Given the description of an element on the screen output the (x, y) to click on. 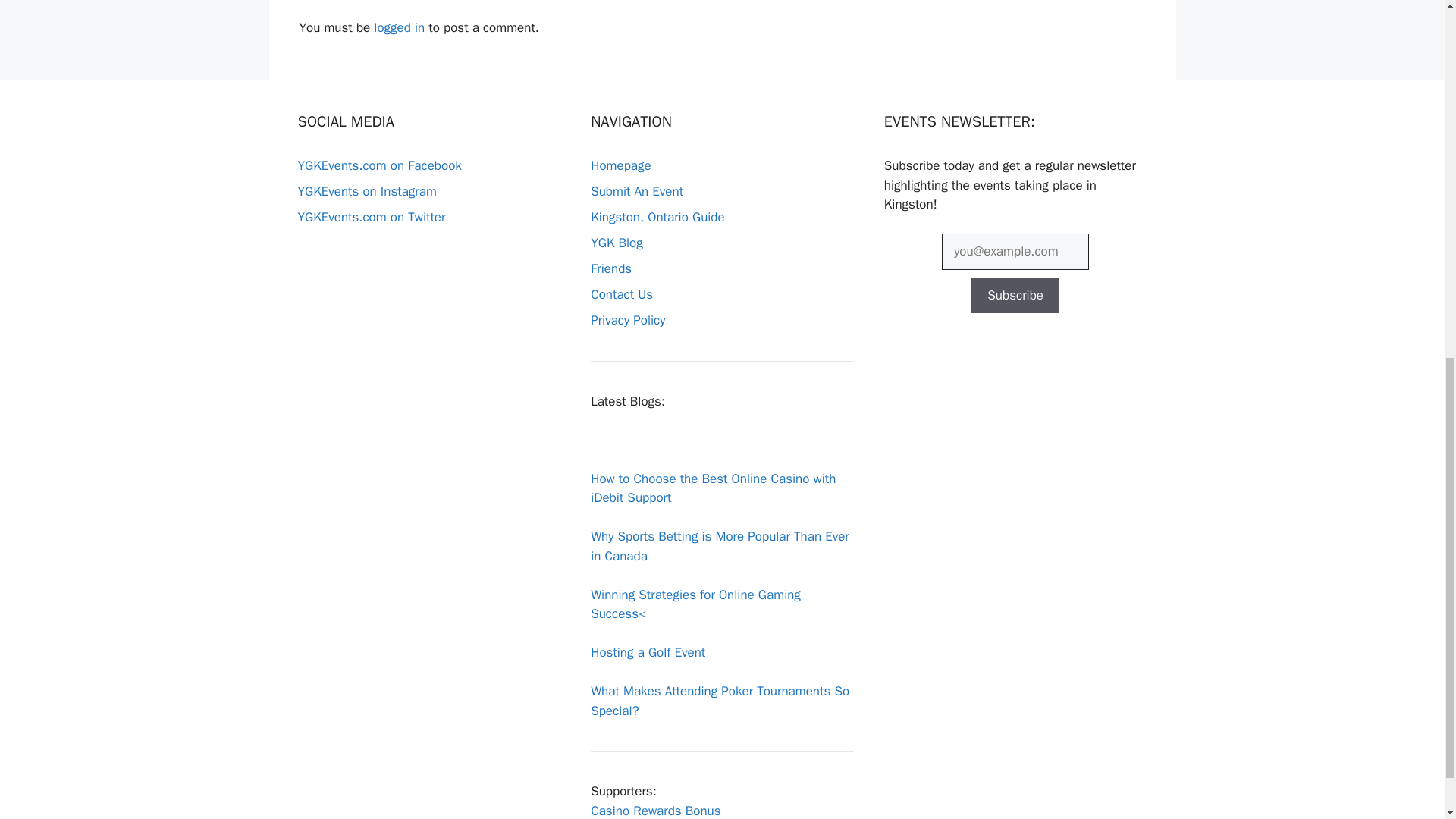
YGKEvents.com on Facebook (379, 165)
Submit An Event (636, 191)
Homepage (620, 165)
logged in (399, 27)
YGKEvents on Instagram (366, 191)
YGKEvents.com on Twitter (371, 217)
Subscribe (1015, 295)
Hosting a Golf Event (647, 652)
Privacy Policy (628, 320)
What Makes Attending Poker Tournaments So Special? (719, 701)
